Given the description of an element on the screen output the (x, y) to click on. 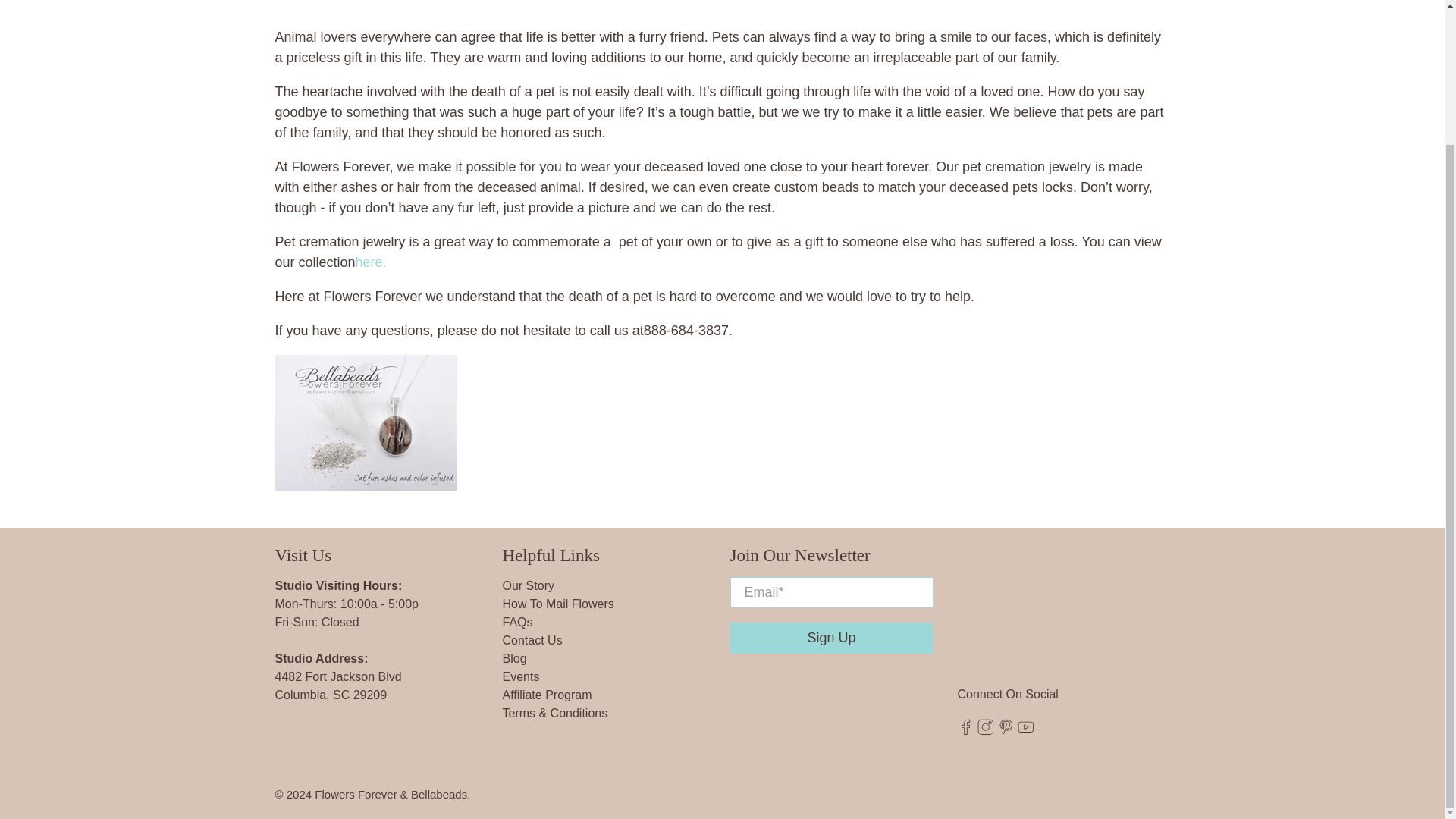
here. (371, 262)
Columbia, SC 29209 (331, 694)
Our Story (527, 585)
4482 Fort Jackson Blvd (338, 676)
How To Mail Flowers (557, 603)
